Given the description of an element on the screen output the (x, y) to click on. 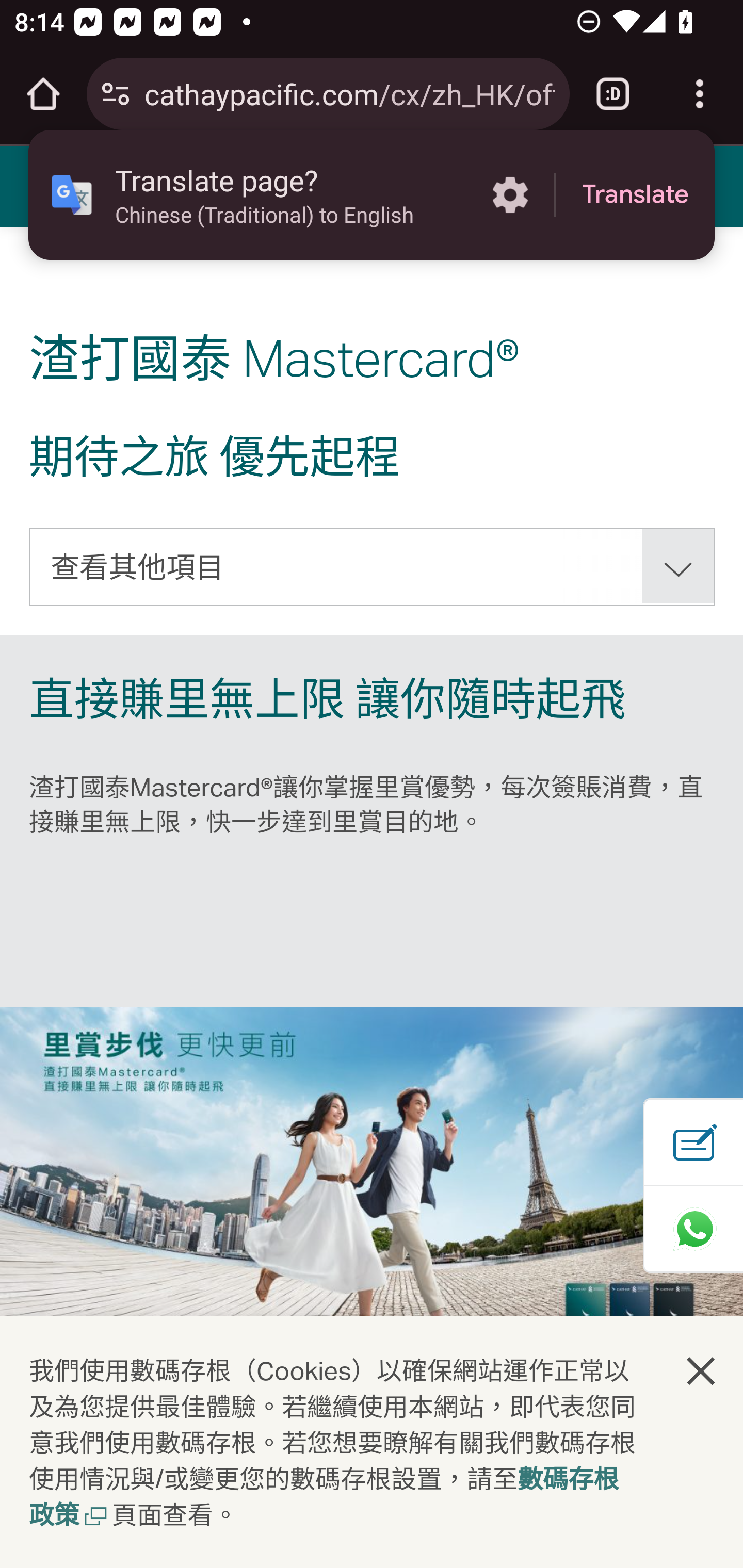
Open the home page (43, 93)
Connection is secure (115, 93)
Switch or close tabs (612, 93)
Customize and control Google Chrome (699, 93)
Translate (634, 195)
功能表 (47, 186)
More options in the Translate page? (509, 195)
查看其他項目 (372, 566)
關閉 (701, 1370)
數碼存根政策, 在新窗口中打开 數碼存根政策 開啟新視窗 (323, 1498)
